Given the description of an element on the screen output the (x, y) to click on. 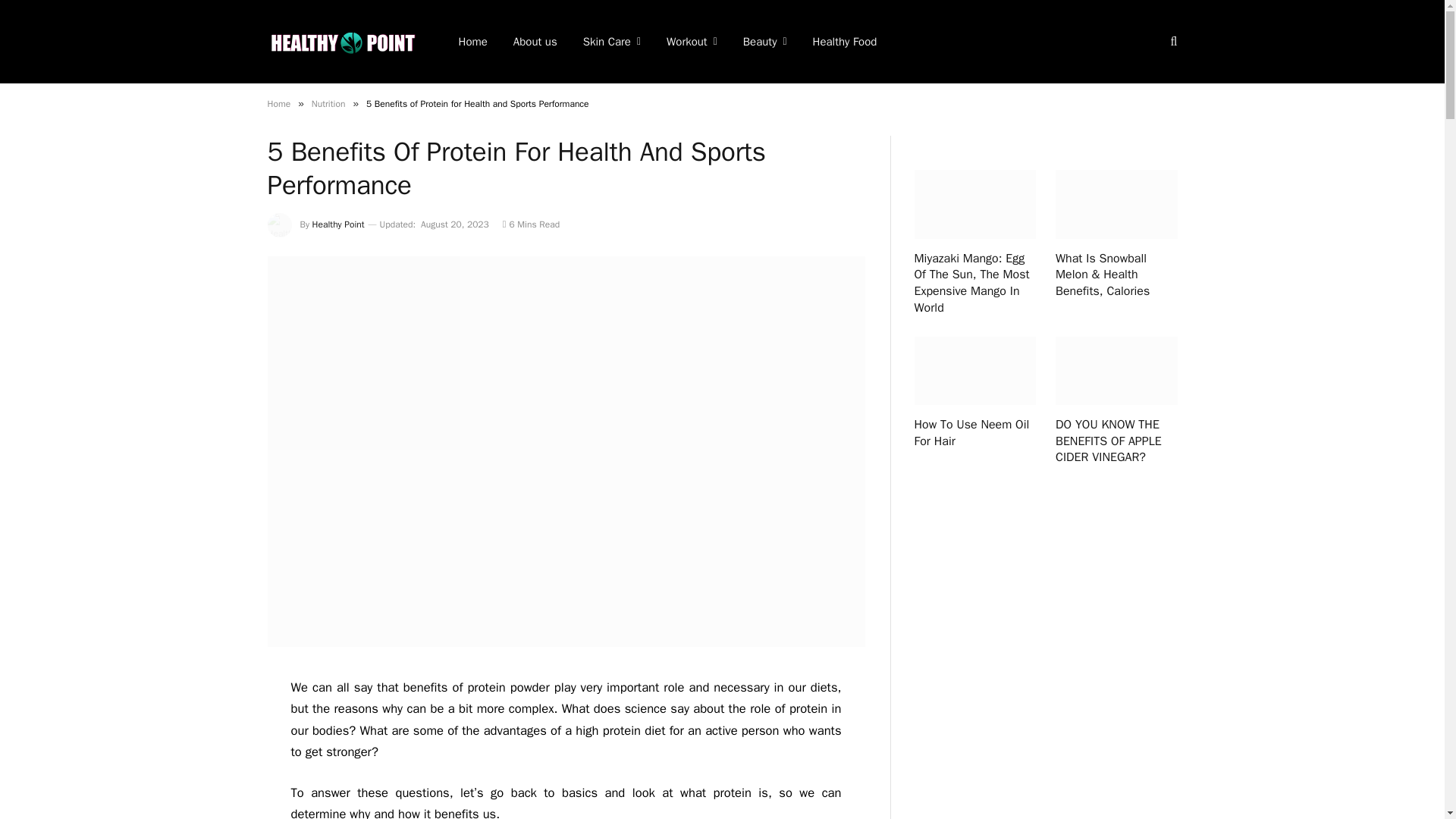
Posts by Healthy Point (339, 224)
Nutrition (328, 103)
Healthy Food (844, 41)
Home (277, 103)
Healthy Point (339, 224)
Skin Care (611, 41)
A Healthy Point (342, 41)
Workout (691, 41)
